Given the description of an element on the screen output the (x, y) to click on. 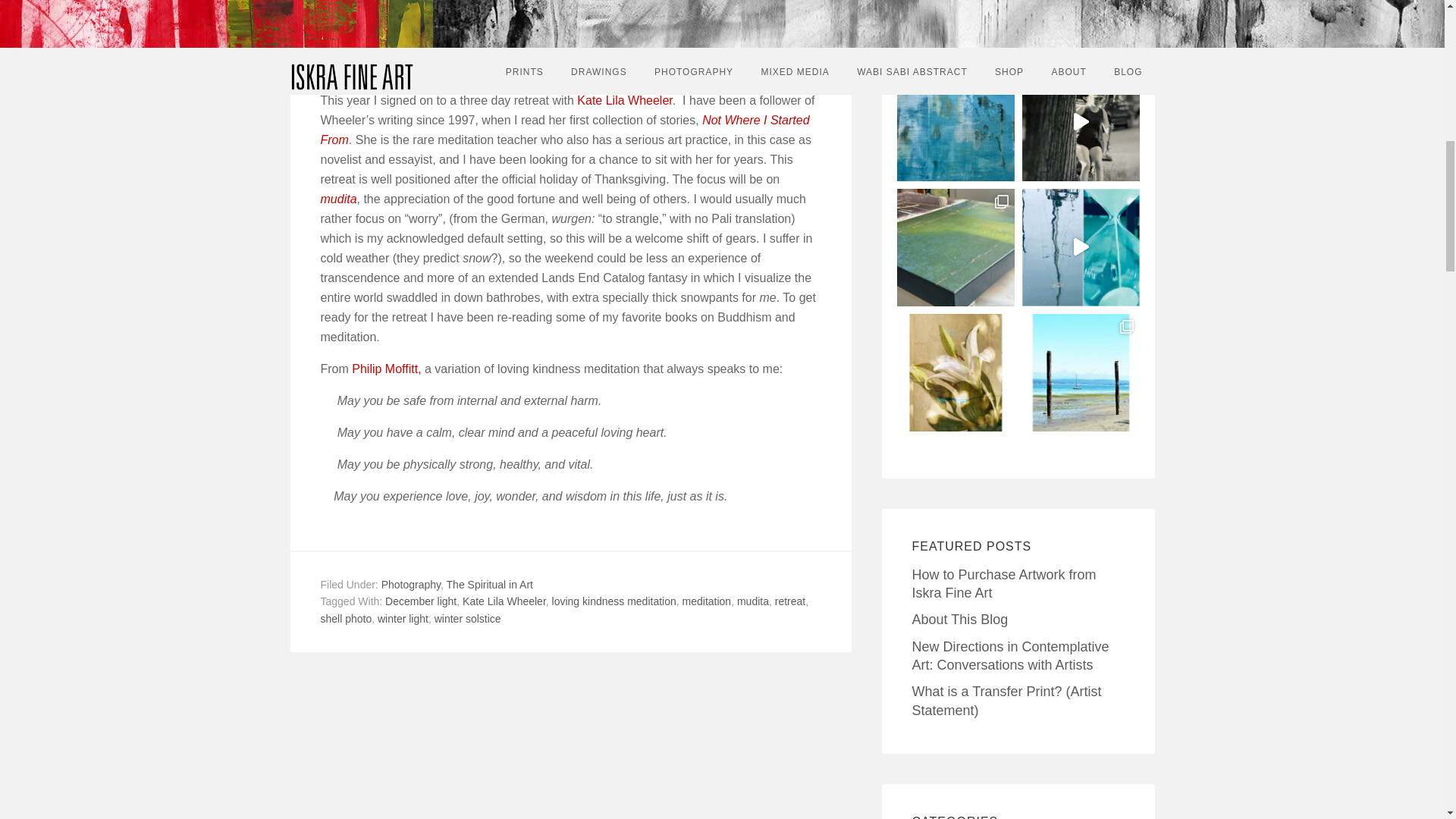
mudita (338, 198)
Not Where I Started From (564, 129)
Kate Lila Wheeler (623, 100)
